Given the description of an element on the screen output the (x, y) to click on. 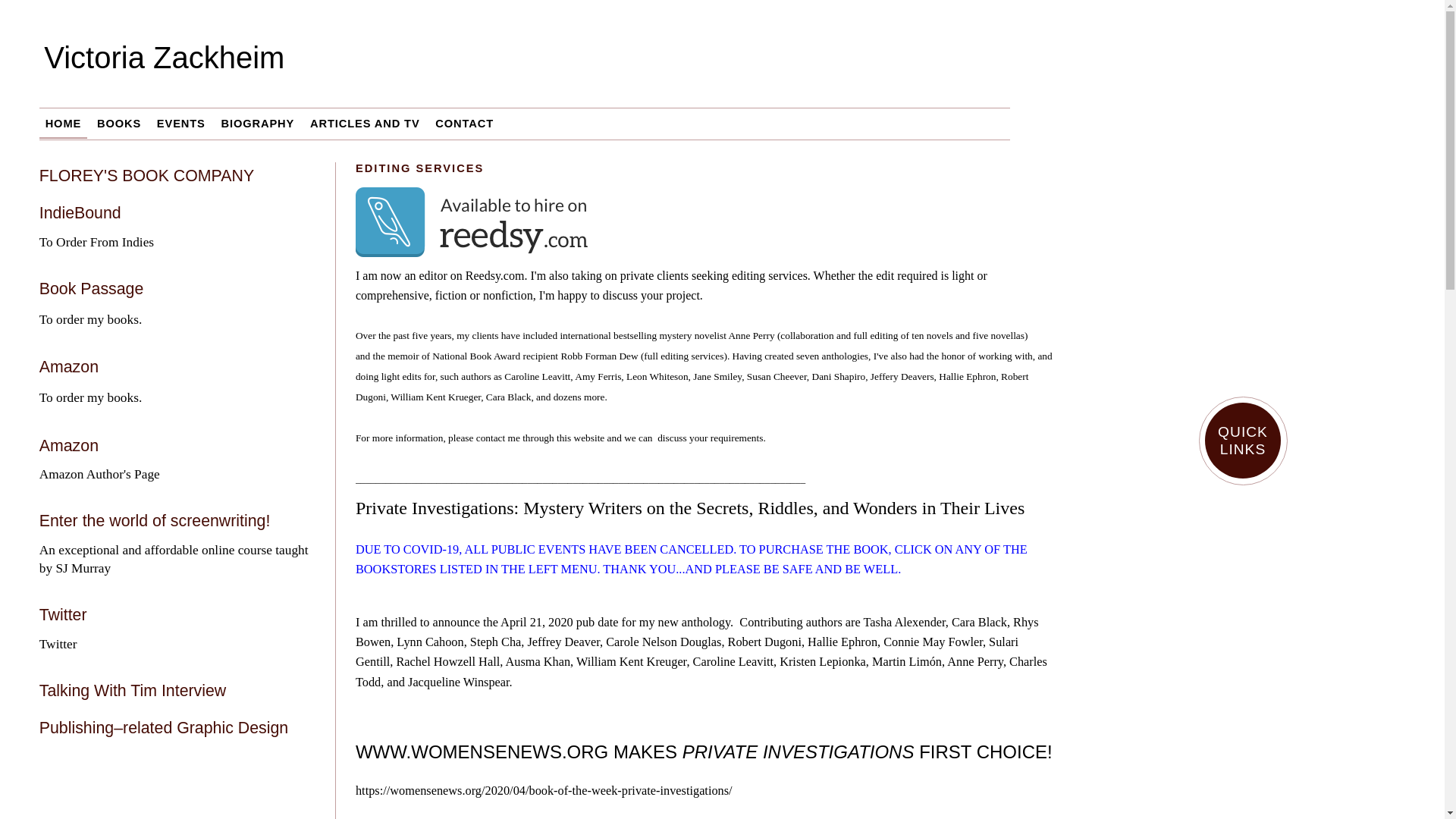
CONTACT (464, 123)
Victoria Zackheim (548, 69)
BOOKS (118, 123)
HOME (63, 123)
Enter the world of screenwriting! (154, 520)
ARTICLES AND TV (364, 123)
Authors Guild (1242, 780)
EVENTS (181, 123)
Talking With Tim Interview (133, 690)
IndieBound (79, 212)
EXCELLENT ONLINE SCREENWRITING COURSE (1242, 525)
BIOGRAPHY (258, 123)
Book Passage (91, 289)
Amazon (69, 445)
Twitter (63, 615)
